Given the description of an element on the screen output the (x, y) to click on. 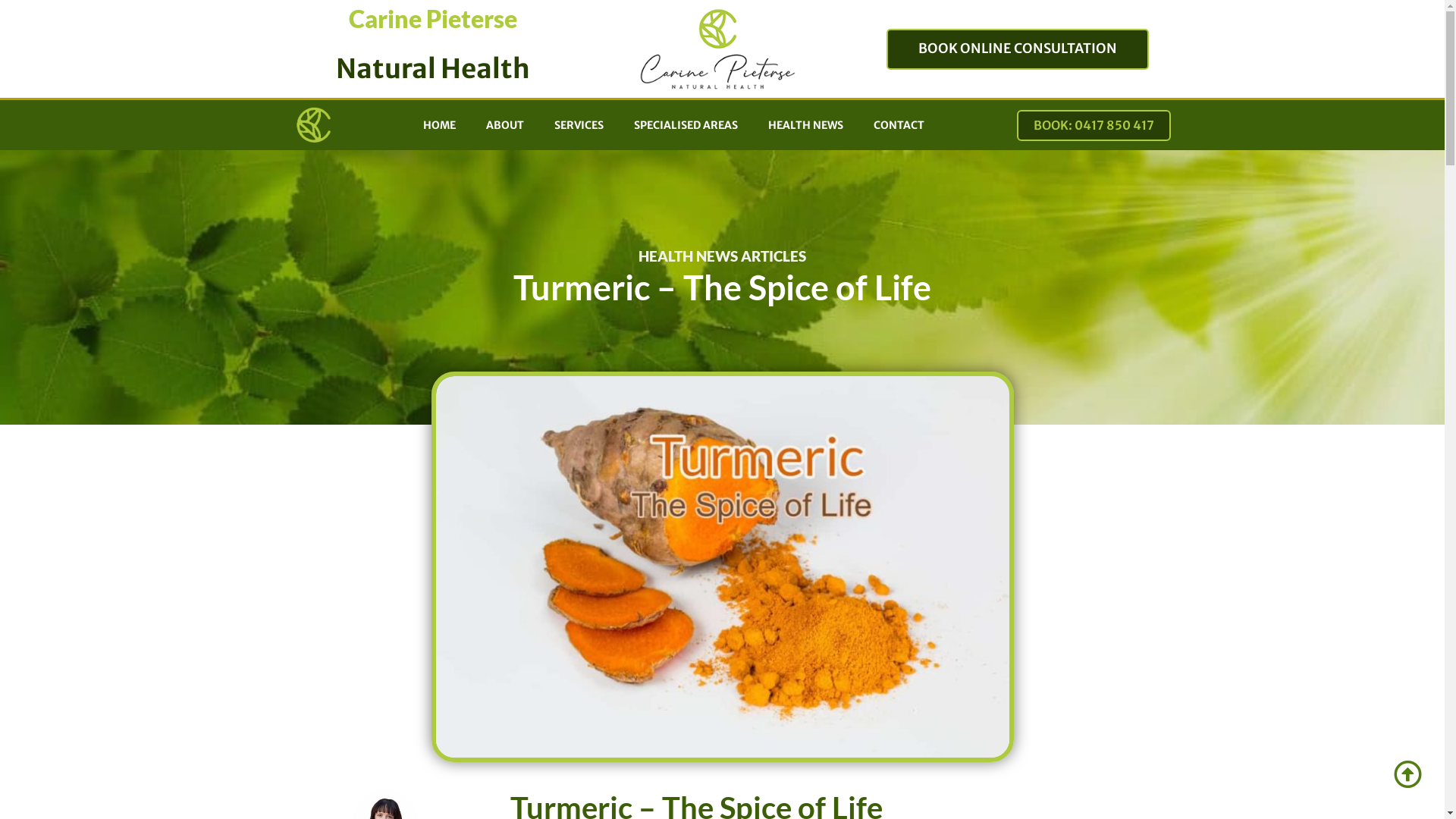
SPECIALISED AREAS Element type: text (685, 124)
HOME Element type: text (438, 124)
BOOK ONLINE CONSULTATION Element type: text (1017, 48)
HEALTH NEWS Element type: text (805, 124)
BOOK: 0417 850 417 Element type: text (1093, 125)
CONTACT Element type: text (898, 124)
Carine Pieterse Natural Health Element type: hover (313, 125)
SERVICES Element type: text (578, 124)
ABOUT Element type: text (504, 124)
